Given the description of an element on the screen output the (x, y) to click on. 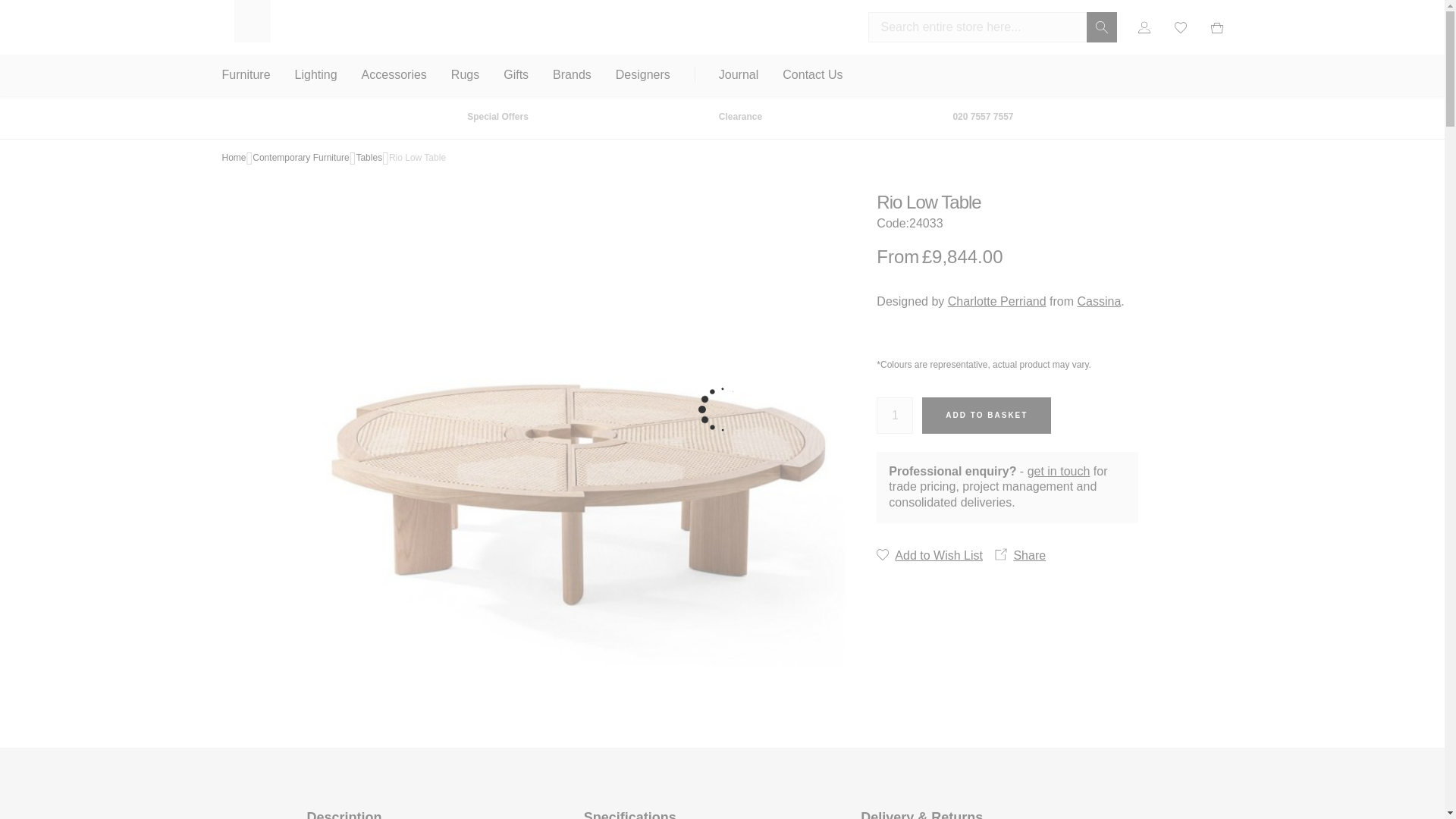
Accessories (393, 75)
1 (894, 415)
My Account (1143, 27)
Clearance (740, 116)
My Cart (1210, 27)
My Wish List (1179, 27)
Contact Us (813, 75)
SEARCH (1101, 27)
Wishlist (1179, 27)
Search (1101, 27)
